Given the description of an element on the screen output the (x, y) to click on. 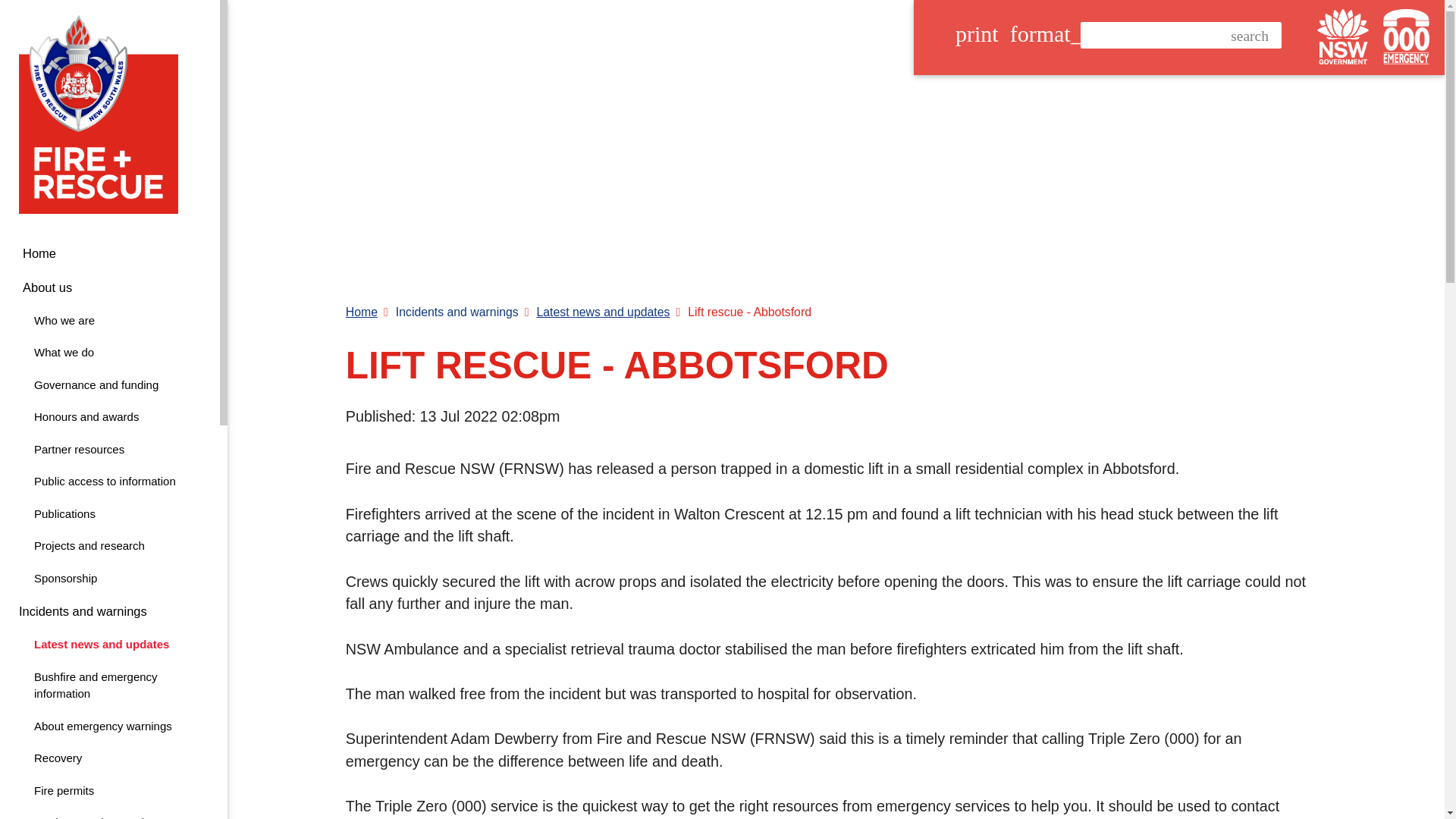
Projects and research (109, 546)
Partner resources (109, 449)
Public access to information (109, 481)
Publications (109, 514)
Fire permits (109, 791)
NSW Government (1342, 36)
Governance and funding (109, 384)
Recovery (109, 758)
Latest news and updates (109, 644)
What we do (109, 352)
Sponsorship (109, 816)
Home (109, 685)
Honours and awards (109, 579)
